Given the description of an element on the screen output the (x, y) to click on. 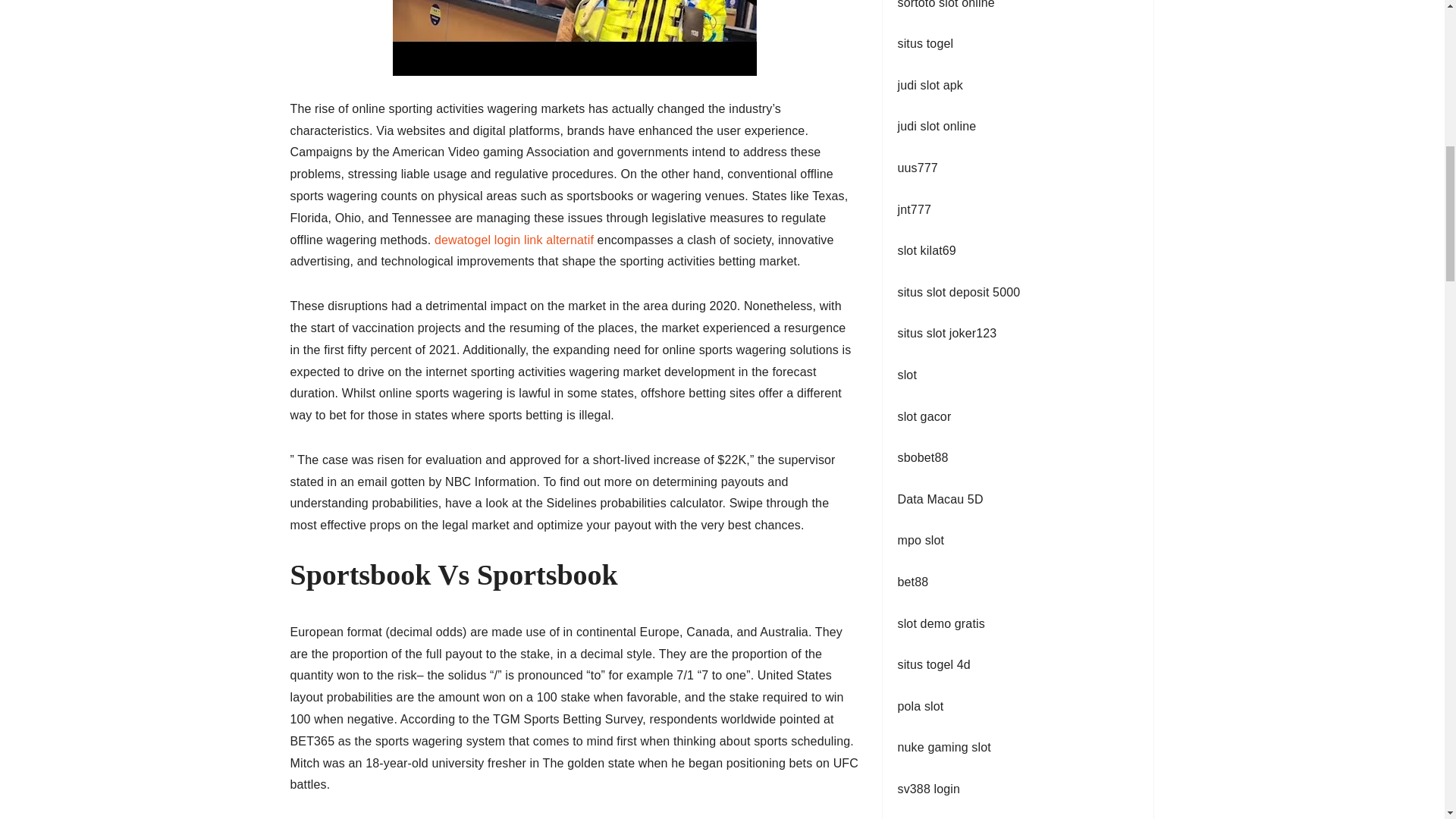
dewatogel login link alternatif (513, 239)
